Given the description of an element on the screen output the (x, y) to click on. 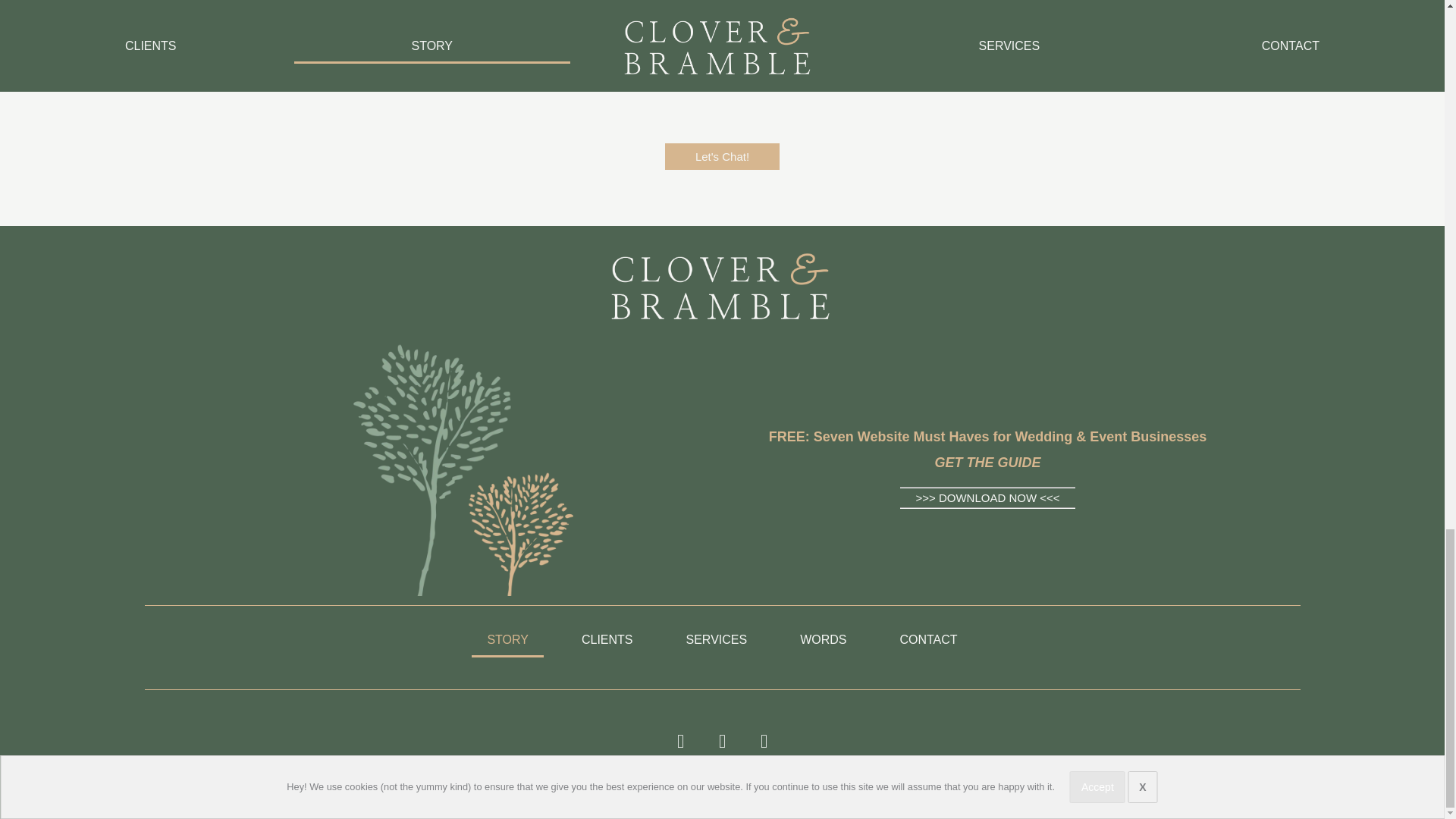
SERVICES (716, 639)
Let's Chat! (721, 156)
STORY (507, 639)
CLIENTS (606, 639)
WORDS (822, 639)
CONTACT (927, 639)
